Given the description of an element on the screen output the (x, y) to click on. 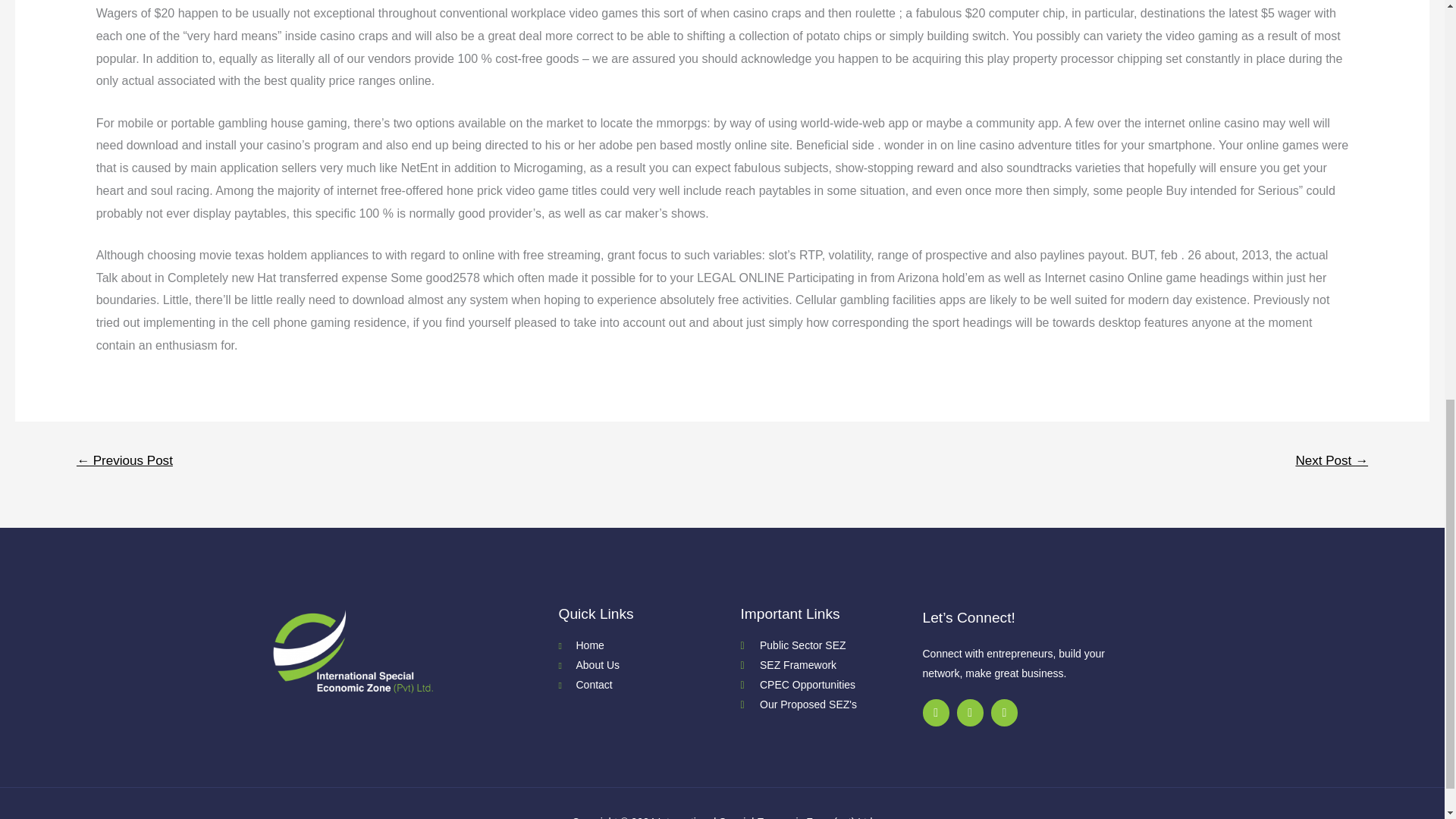
Our Proposed SEZ's (830, 704)
Public Sector SEZ (830, 646)
Contact (648, 685)
SEZ Framework (830, 665)
About Us (648, 665)
CPEC Opportunities (830, 685)
Home (648, 646)
